Given the description of an element on the screen output the (x, y) to click on. 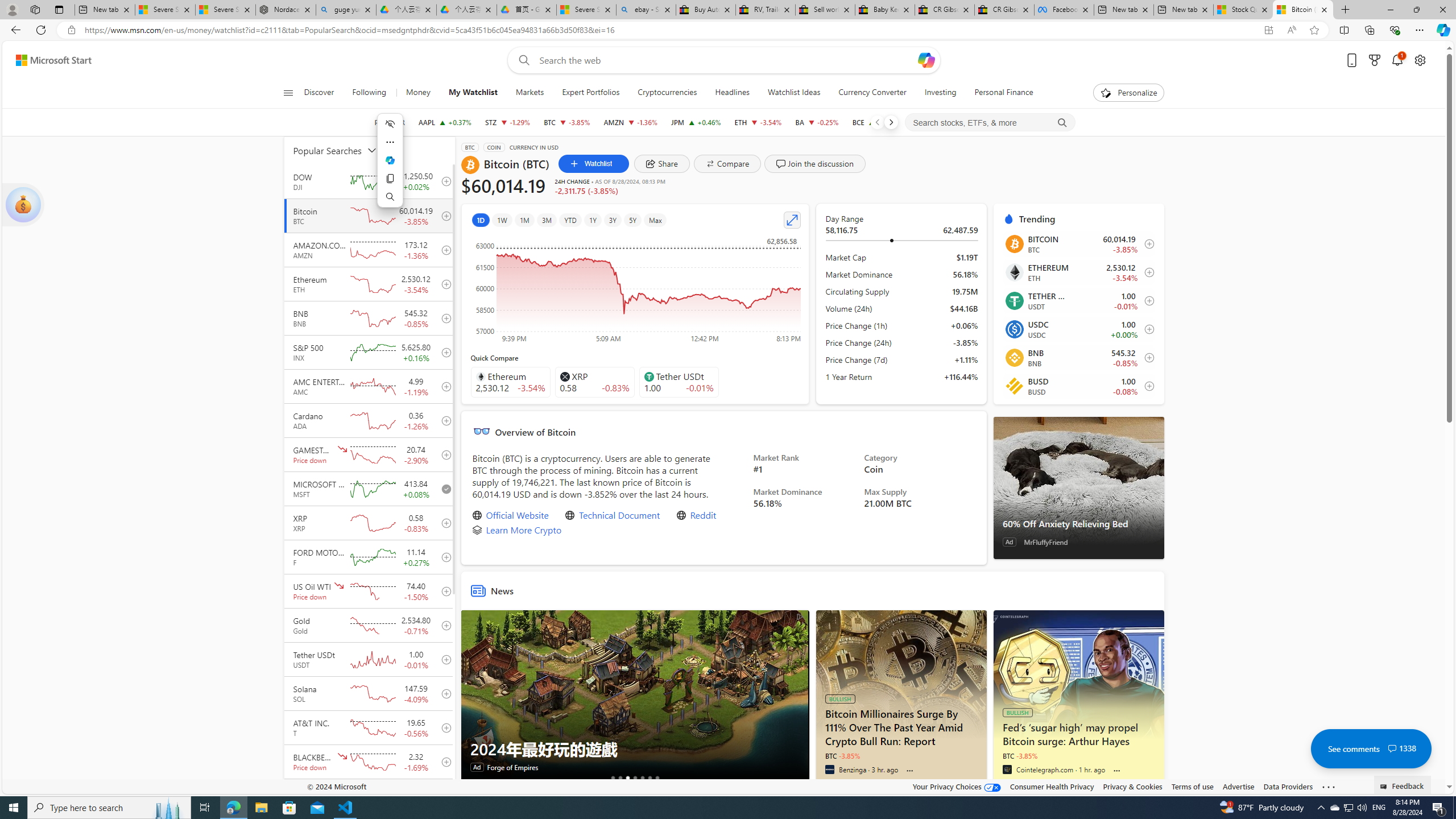
AdChoices (799, 616)
Headlines (731, 92)
1M (523, 219)
AAPL APPLE INC. increase 228.03 +0.85 +0.37% (444, 122)
Class: oneFooter_seeMore-DS-EntryPoint1-1 (1328, 786)
JPM JPMORGAN CHASE & CO. increase 220.18 +1.01 +0.46% (695, 122)
Personal Finance (999, 92)
YTD (570, 219)
USDT Tether USDt decrease 1.00 -0.00 -0.01% itemundefined (1078, 300)
Money (417, 92)
Headlines (732, 92)
Benzinga (829, 768)
